Given the description of an element on the screen output the (x, y) to click on. 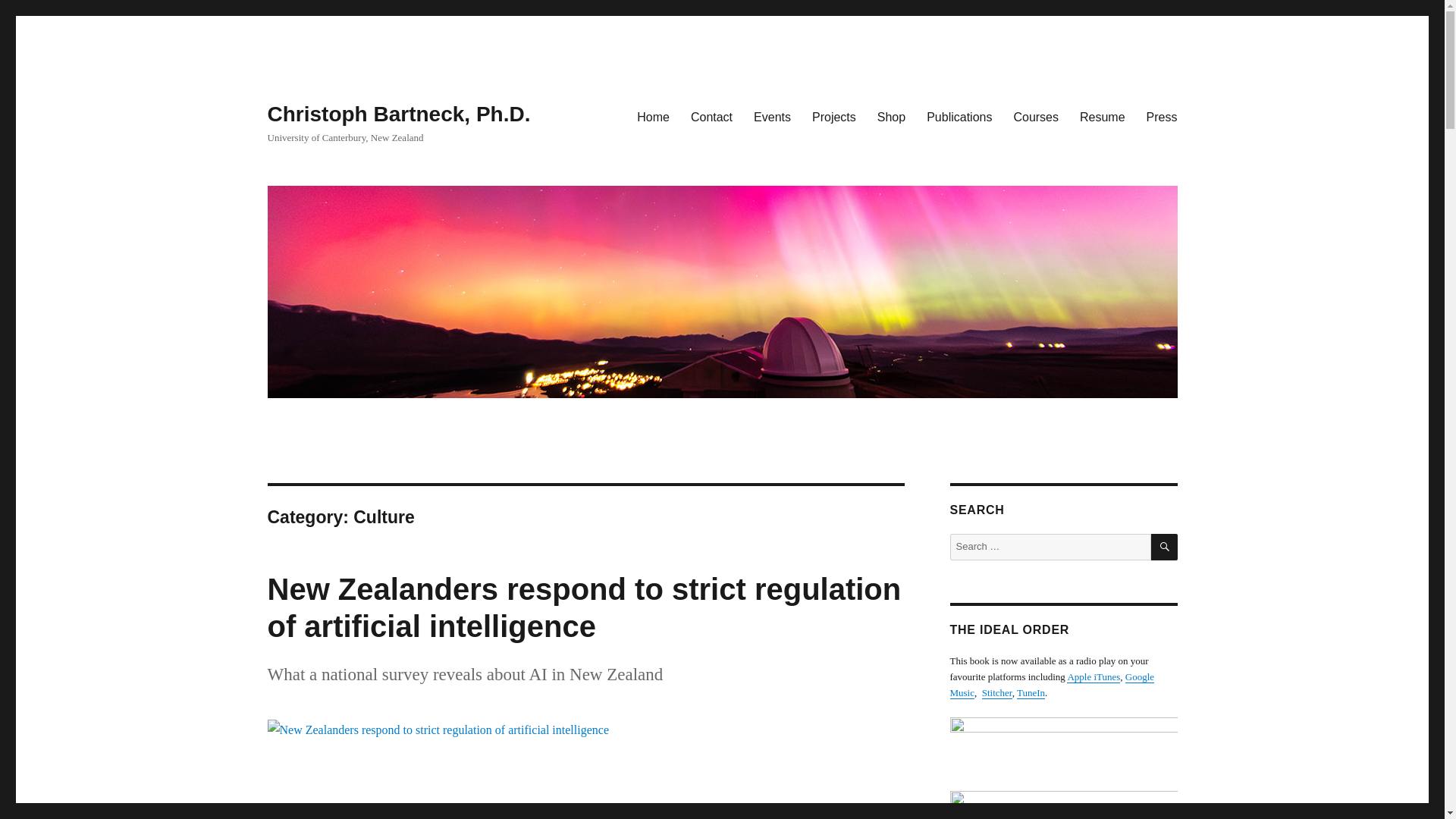
Shop (890, 116)
Christoph Bartneck, Ph.D. (397, 114)
Resume (1101, 116)
Press (1161, 116)
Contact (710, 116)
Home (652, 116)
Events (772, 116)
Publications (959, 116)
Courses (1035, 116)
